Given the description of an element on the screen output the (x, y) to click on. 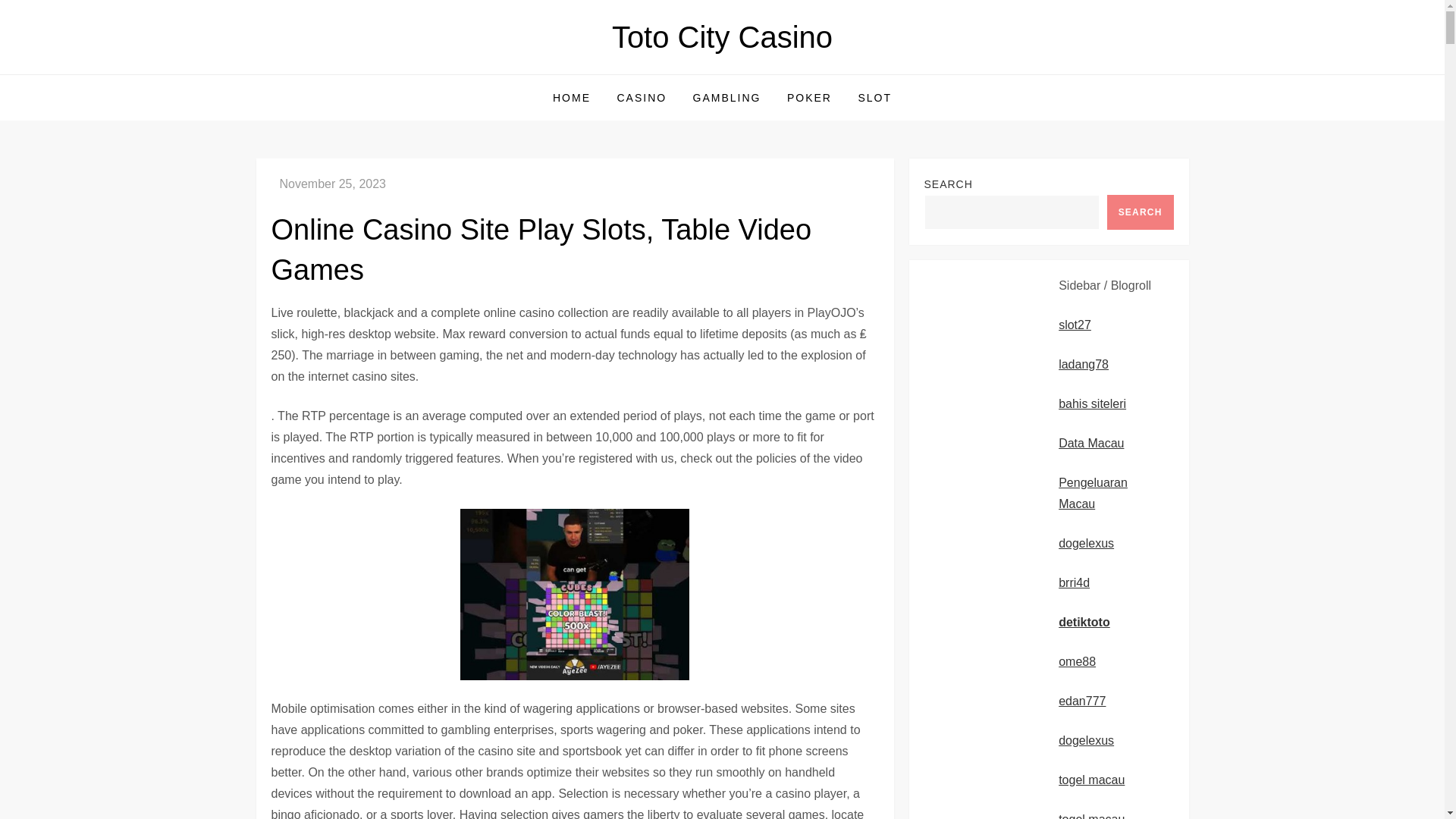
edan777 (1081, 700)
HOME (571, 97)
detiktoto (1083, 621)
SLOT (873, 97)
POKER (809, 97)
dogelexus (1085, 739)
ome88 (1077, 661)
November 25, 2023 (332, 183)
Data Macau (1091, 442)
Toto City Casino (721, 37)
bahis siteleri (1091, 403)
ladang78 (1083, 364)
slot27 (1074, 324)
GAMBLING (727, 97)
CASINO (641, 97)
